Given the description of an element on the screen output the (x, y) to click on. 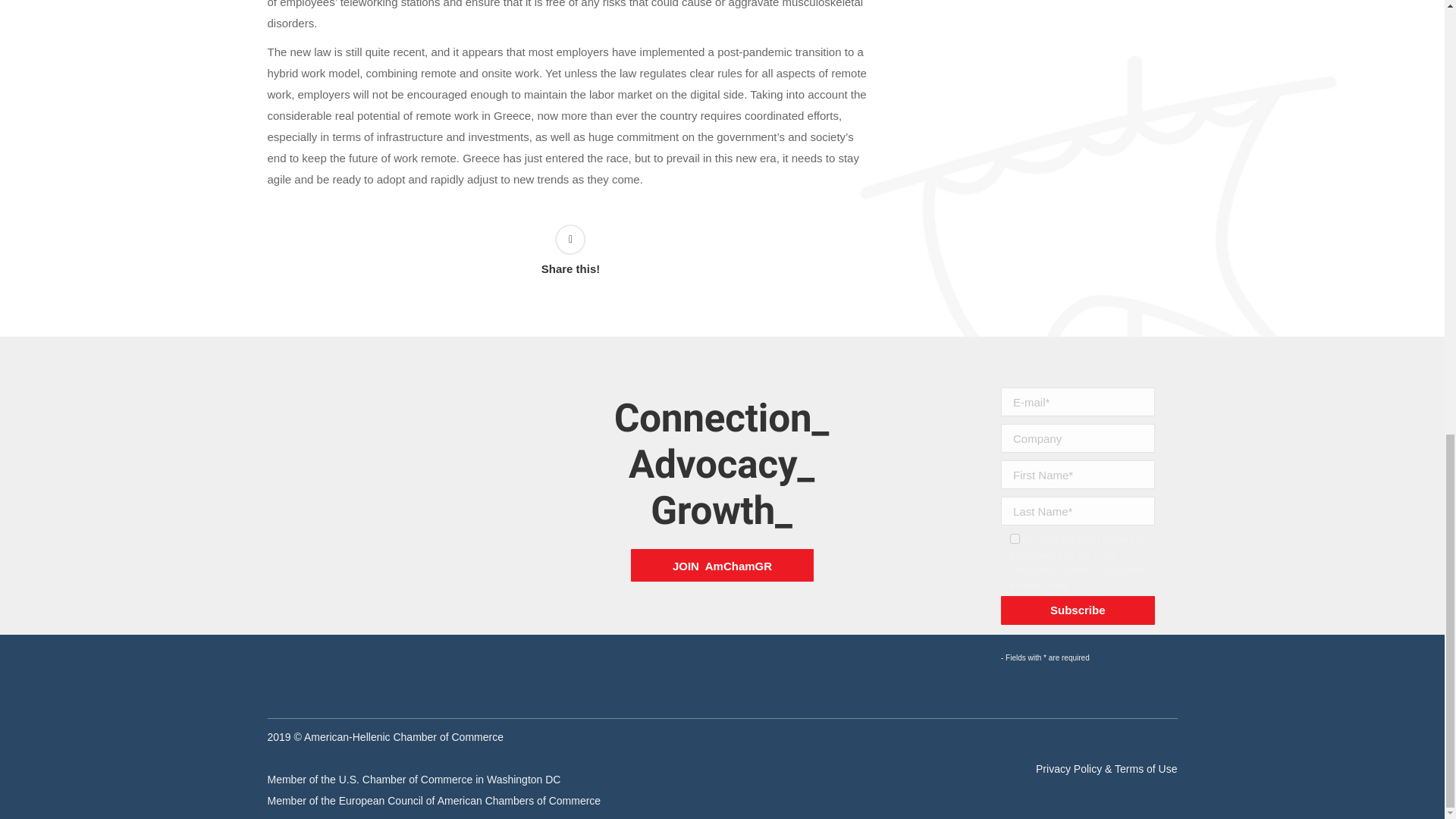
Subscribe (1077, 610)
1 (1015, 538)
